Given the description of an element on the screen output the (x, y) to click on. 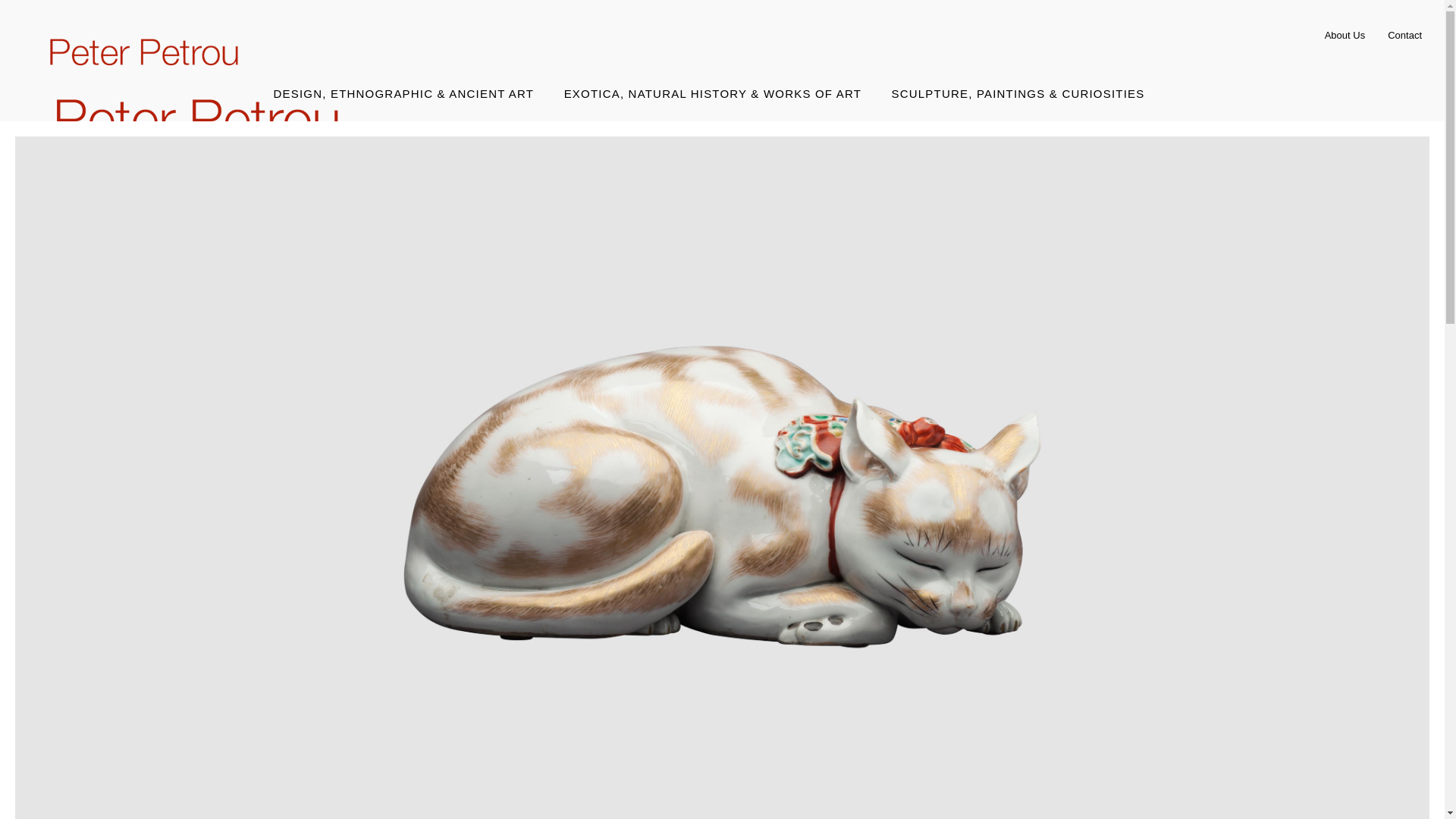
Contact (1404, 35)
About Us (1344, 35)
